Given the description of an element on the screen output the (x, y) to click on. 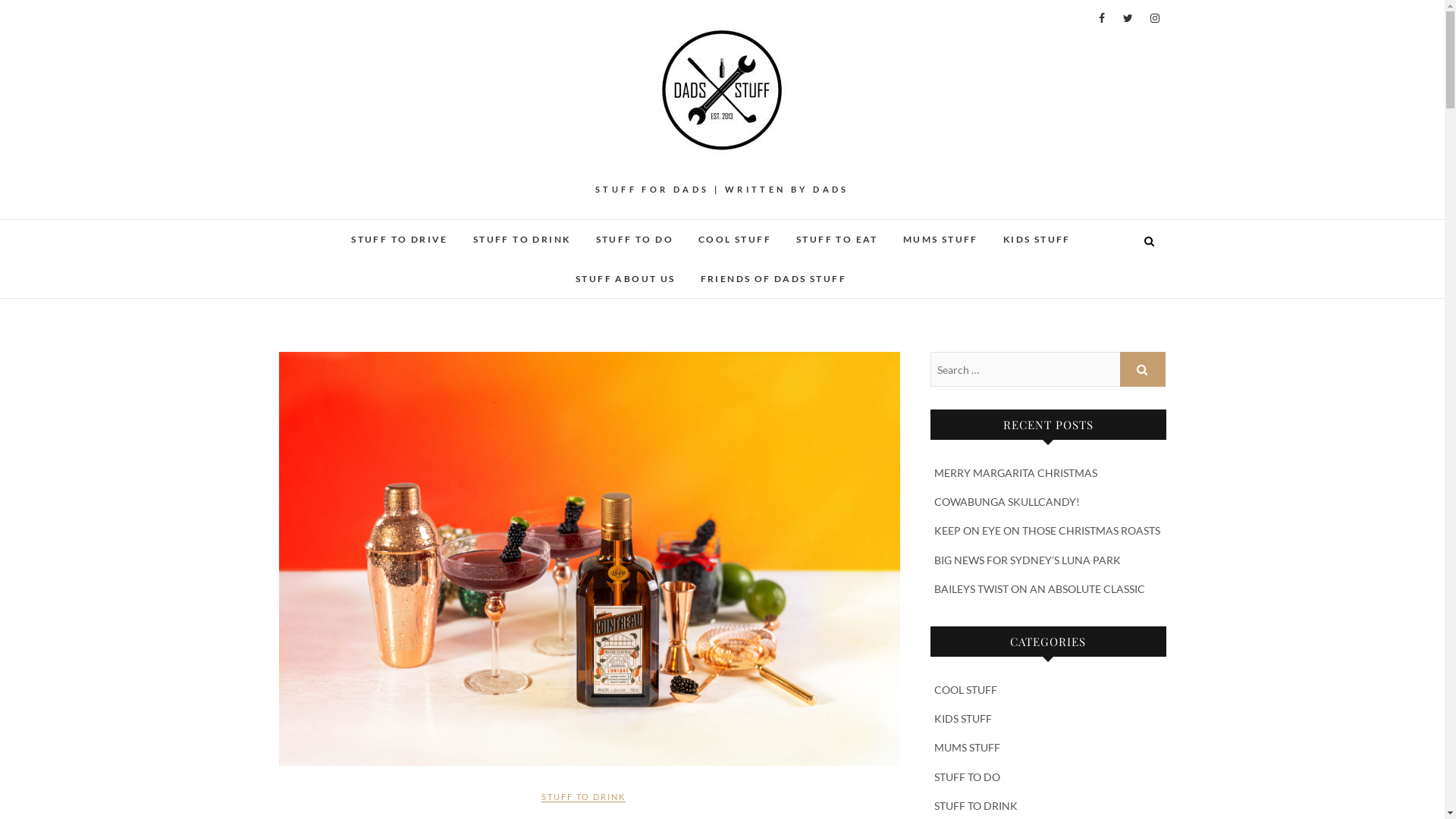
COOL STUFF Element type: text (734, 239)
MUMS STUFF Element type: text (967, 746)
MERRY MARGARITA CHRISTMAS Element type: hover (589, 558)
STUFF TO DRIVE Element type: text (399, 239)
MERRY MARGARITA CHRISTMAS Element type: text (1015, 472)
MUMS STUFF Element type: text (940, 239)
COWABUNGA SKULLCANDY! Element type: text (1006, 501)
STUFF TO EAT Element type: text (836, 239)
KEEP ON EYE ON THOSE CHRISTMAS ROASTS Element type: text (1047, 530)
FRIENDS OF DADS STUFF Element type: text (773, 278)
STUFF TO DO Element type: text (967, 776)
STUFF TO DRINK Element type: text (583, 801)
Skip to content Element type: text (0, 0)
COOL STUFF Element type: text (965, 689)
BAILEYS TWIST ON AN ABSOLUTE CLASSIC Element type: text (1039, 588)
KIDS STUFF Element type: text (1036, 239)
KIDS STUFF Element type: text (962, 718)
STUFF TO DO Element type: text (633, 239)
STUFF ABOUT US Element type: text (625, 278)
STUFF TO DRINK Element type: text (521, 239)
STUFF TO DRINK Element type: text (975, 805)
